Given the description of an element on the screen output the (x, y) to click on. 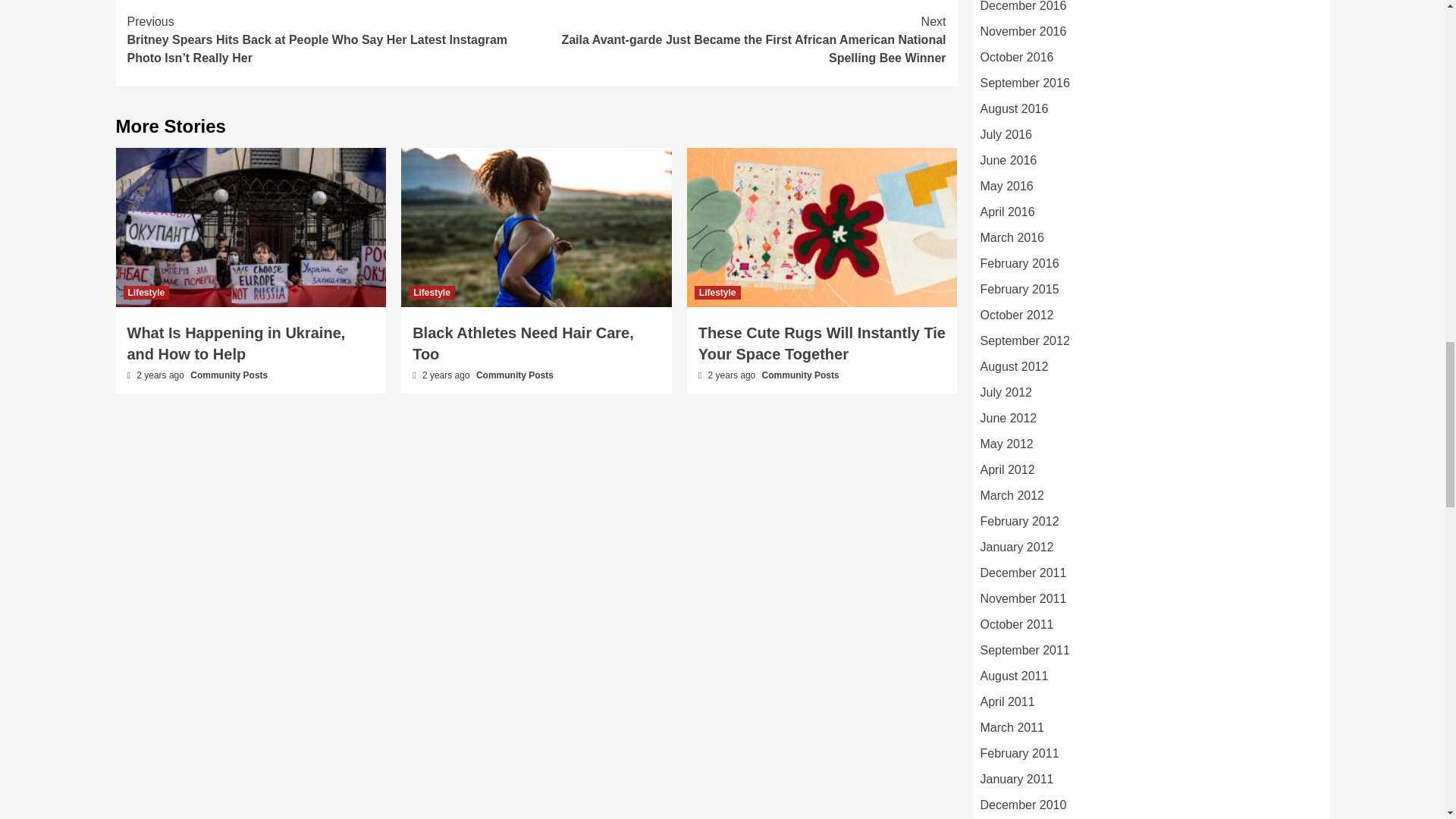
These Cute Rugs Will Instantly Tie Your Space Together (821, 343)
Community Posts (514, 375)
Lifestyle (431, 292)
Lifestyle (717, 292)
Black Athletes Need Hair Care, Too (522, 343)
Community Posts (800, 375)
Lifestyle (145, 292)
Community Posts (228, 375)
What Is Happening in Ukraine, and How to Help (237, 343)
